Given the description of an element on the screen output the (x, y) to click on. 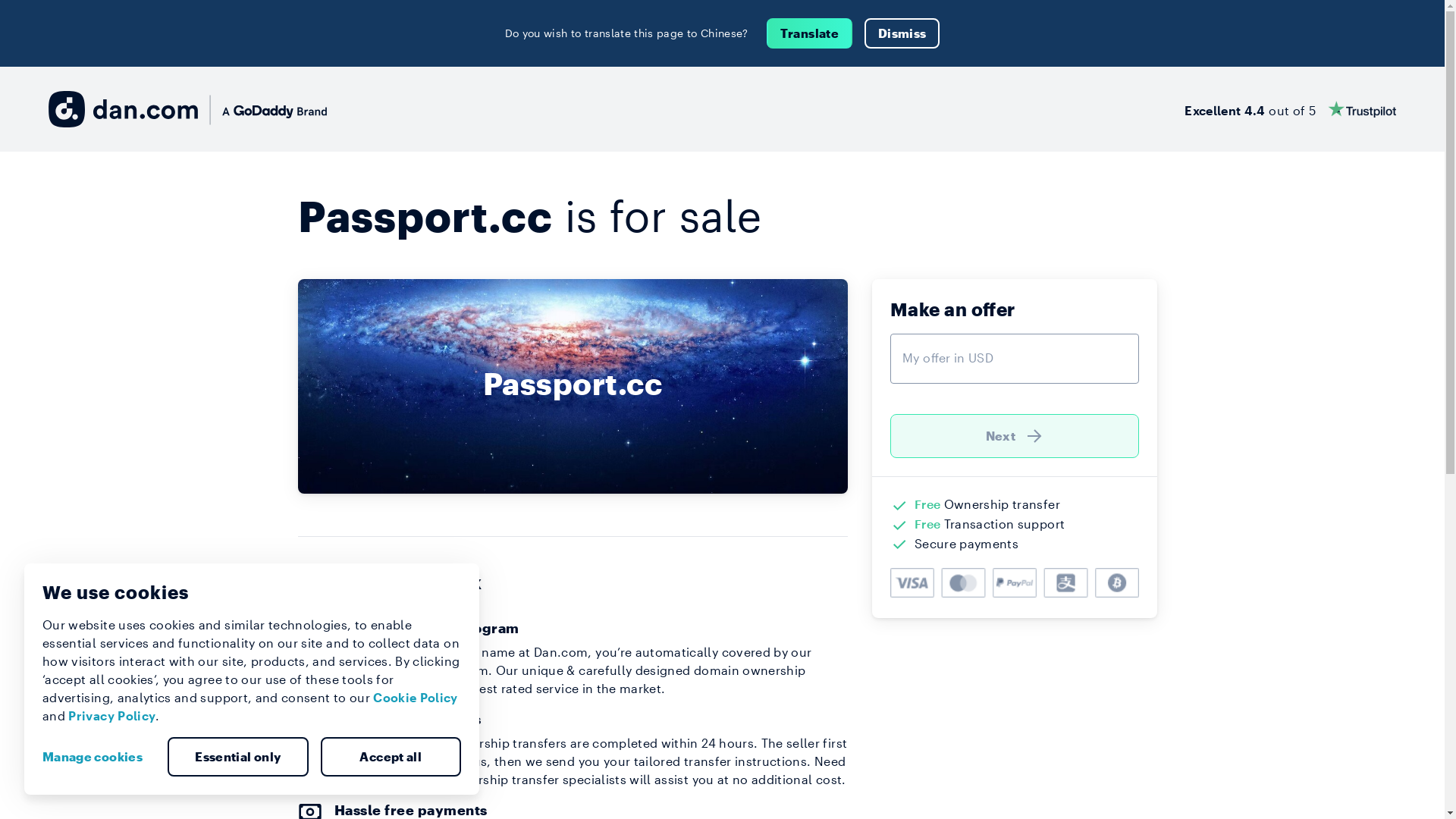
Privacy Policy Element type: text (111, 715)
Accept all Element type: text (390, 756)
Next
) Element type: text (1014, 436)
Excellent 4.4 out of 5 Element type: text (1290, 109)
Essential only Element type: text (237, 756)
Dismiss Element type: text (901, 33)
Translate Element type: text (809, 33)
Manage cookies Element type: text (98, 756)
Cookie Policy Element type: text (415, 697)
